Given the description of an element on the screen output the (x, y) to click on. 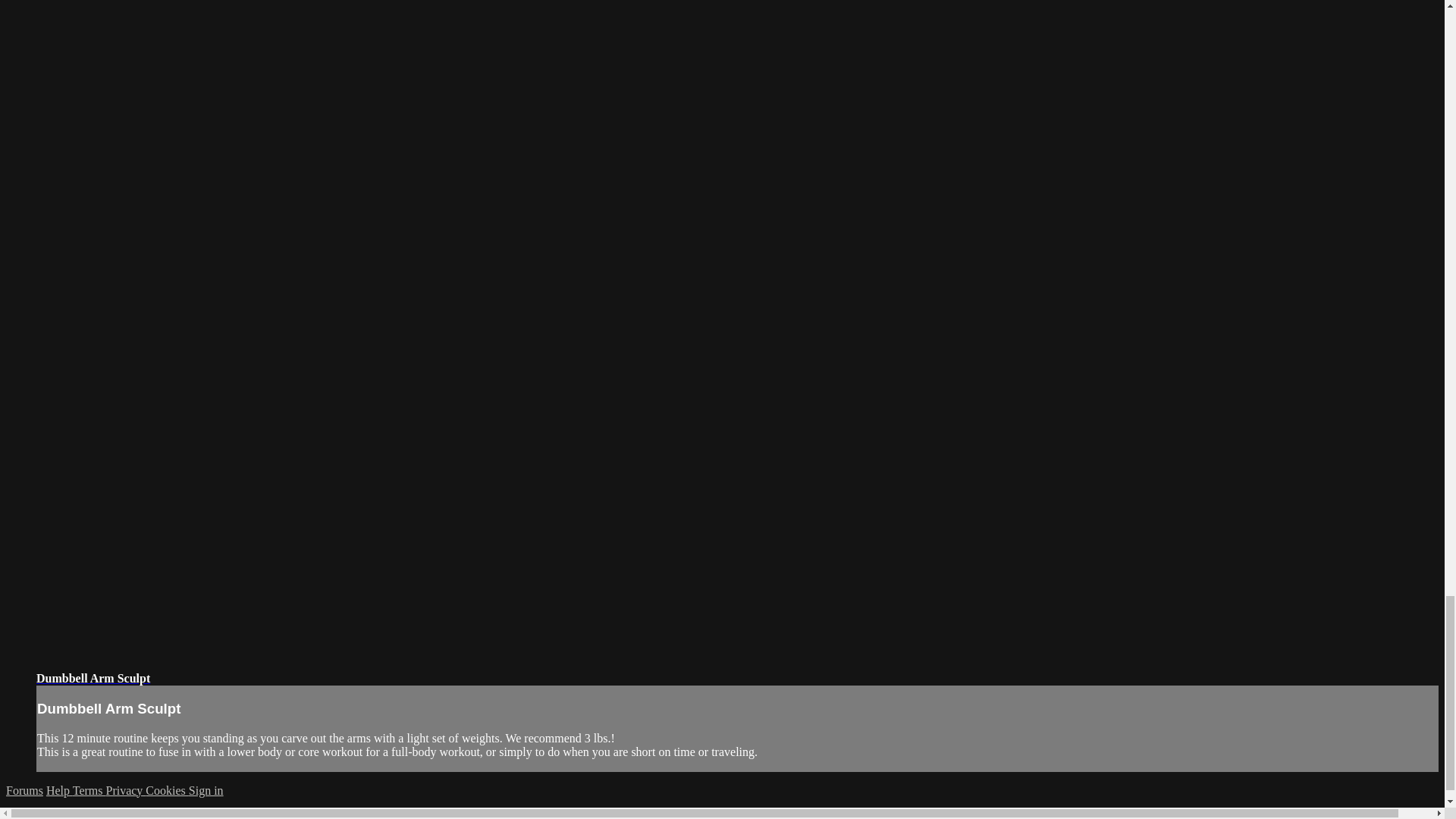
Terms (89, 789)
Help (59, 789)
Dumbbell Arm Sculpt (92, 677)
Dumbbell Arm Sculpt  (92, 677)
Cookies (166, 789)
Sign in (206, 789)
Forums (24, 789)
Privacy (124, 789)
